Given the description of an element on the screen output the (x, y) to click on. 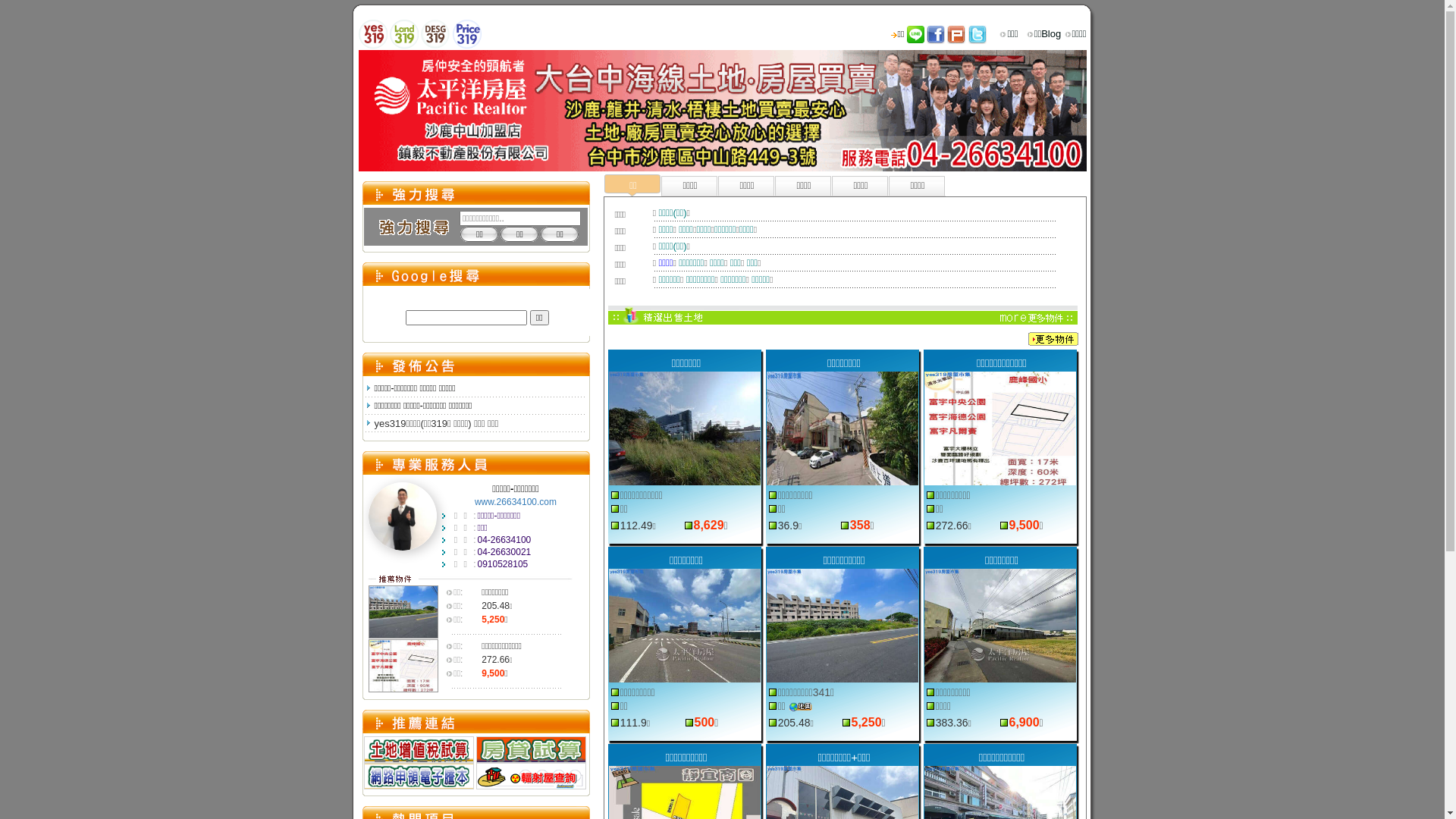
www.26634100.com Element type: text (515, 501)
